Given the description of an element on the screen output the (x, y) to click on. 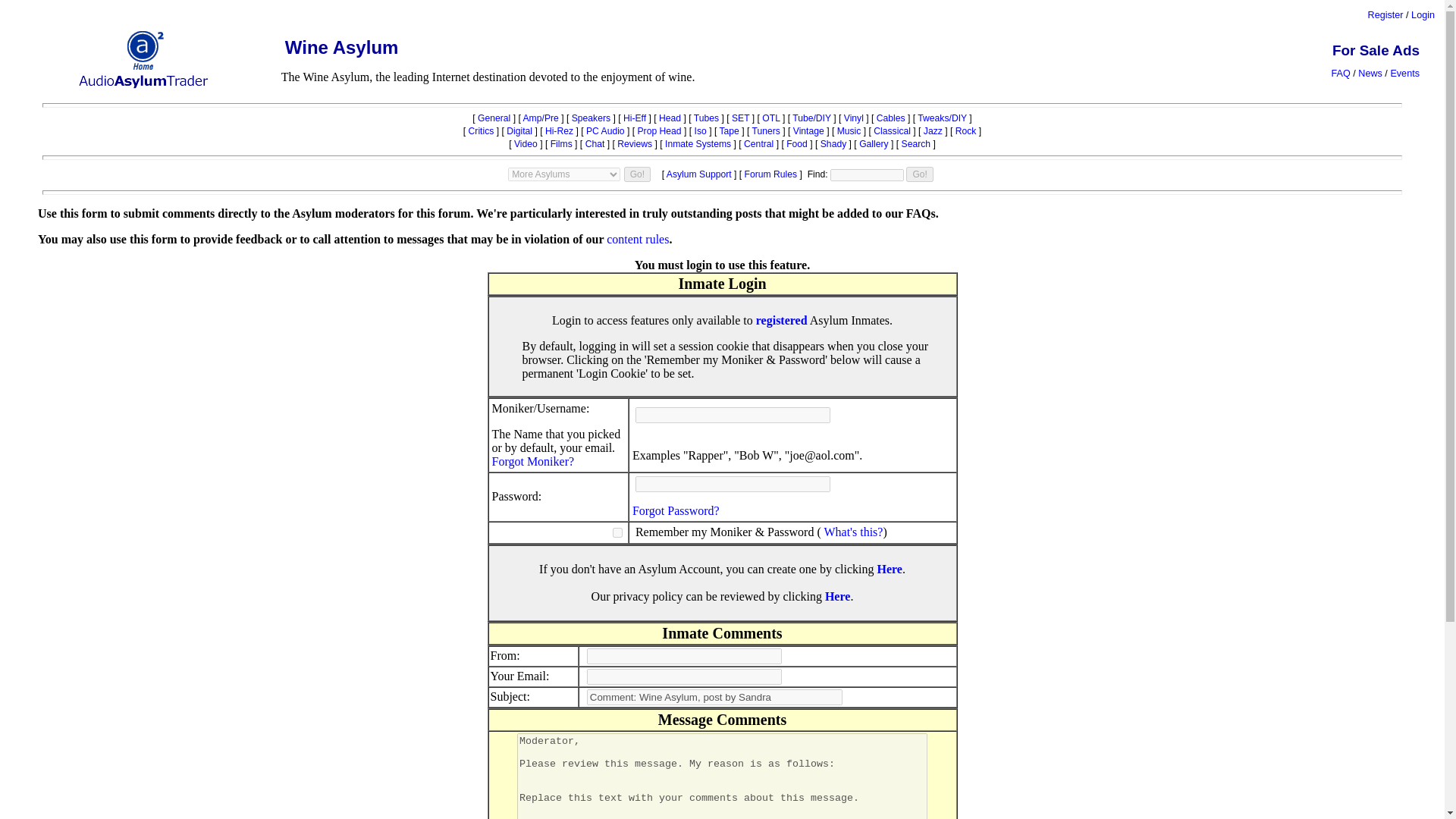
General (494, 118)
Go! (637, 174)
Classical (892, 131)
Prop Head (659, 131)
Tubes (706, 118)
Login (1422, 14)
Digital (519, 131)
PC Audio (605, 131)
Films (561, 143)
Events (1404, 72)
For Sale Ads (1375, 50)
AudioAsylum Trader (143, 81)
Home (142, 48)
Tape (728, 131)
Music (849, 131)
